Given the description of an element on the screen output the (x, y) to click on. 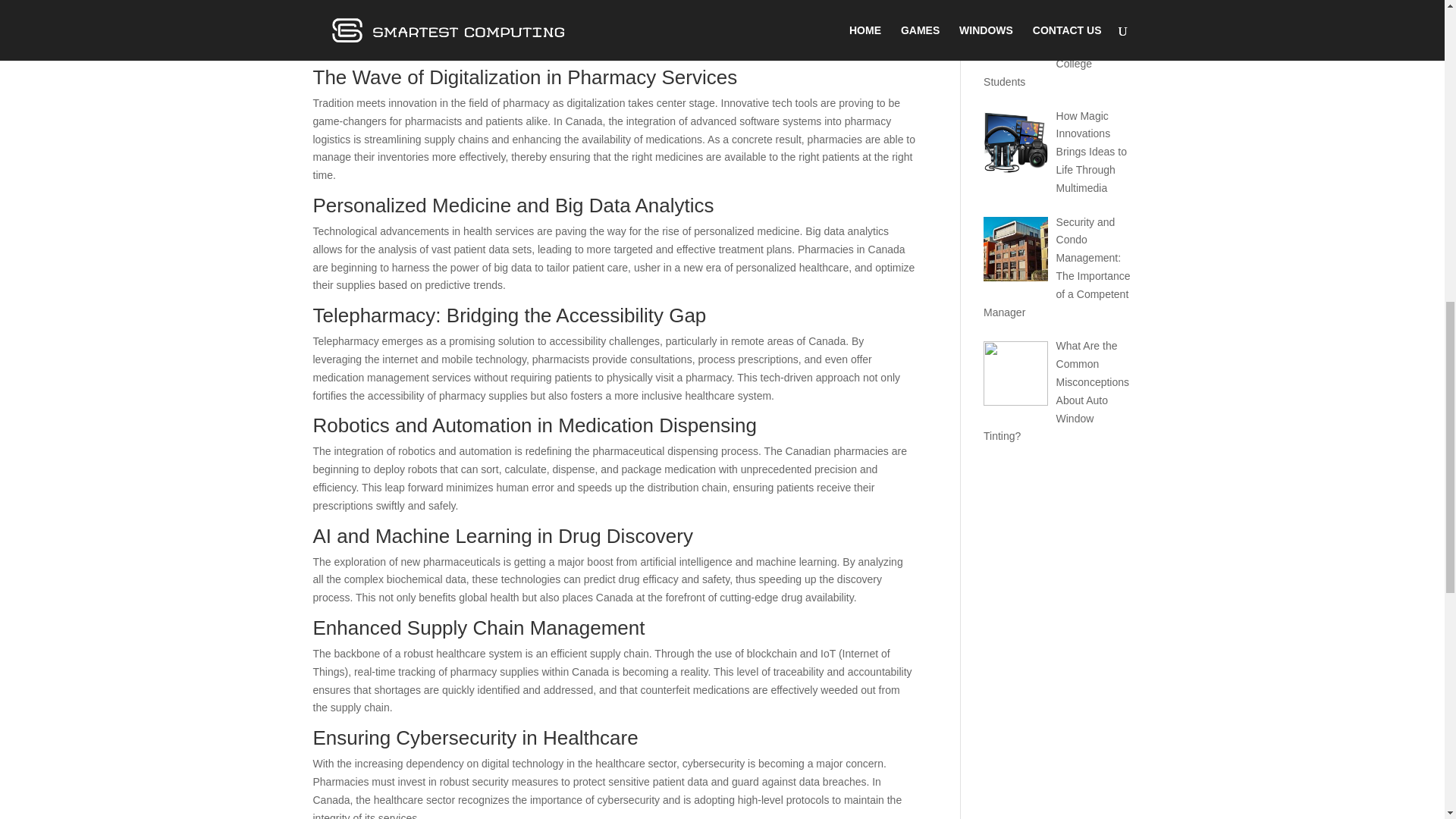
Ensuring Cybersecurity in Healthcare (404, 24)
Enhanced Supply Chain Management (406, 7)
Enhanced Supply Chain Management (406, 7)
Ensuring Cybersecurity in Healthcare (404, 24)
